Given the description of an element on the screen output the (x, y) to click on. 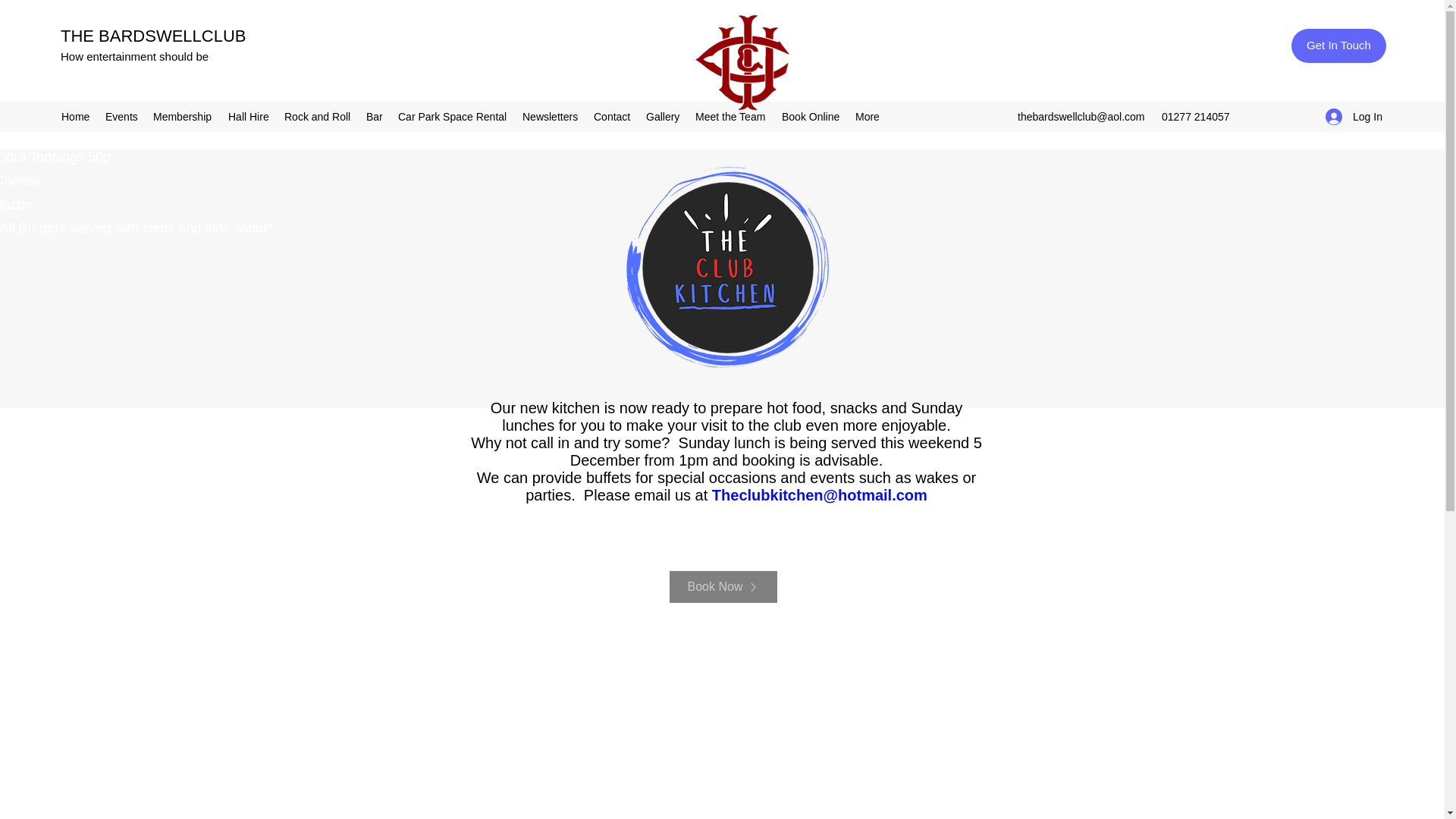
Book Online (810, 116)
Book Now (722, 586)
Gallery (663, 116)
Contact (612, 116)
Membership (183, 116)
Bar (374, 116)
Rock and Roll (317, 116)
Car Park Space Rental (452, 116)
Log In (1348, 117)
Events (121, 116)
